Given the description of an element on the screen output the (x, y) to click on. 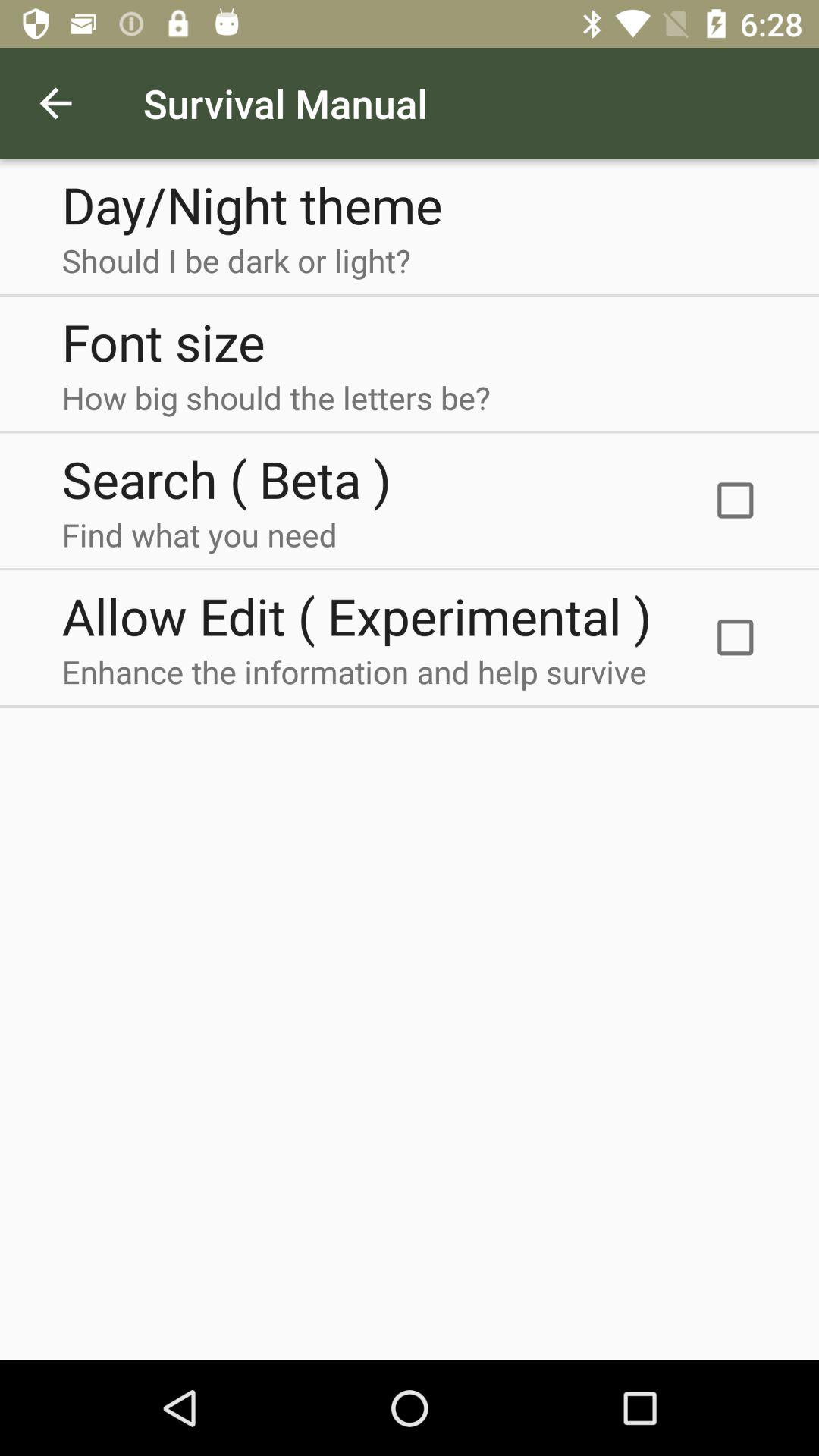
tap icon above day/night theme icon (55, 103)
